Given the description of an element on the screen output the (x, y) to click on. 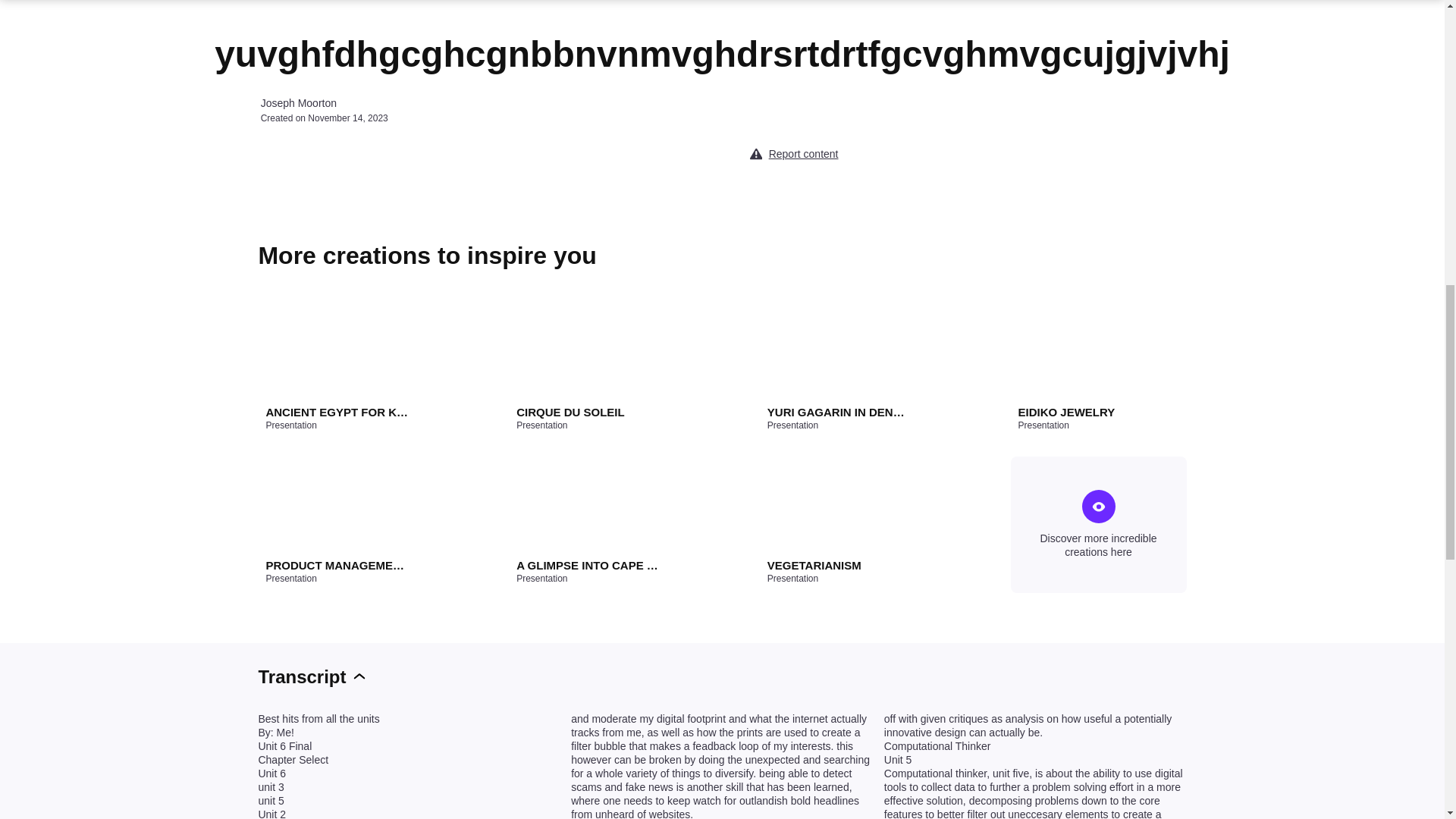
EIDIKO JEWELRY (1088, 412)
VEGETARIANISM (838, 565)
YURI GAGARIN IN DENMARK (838, 412)
ANCIENT EGYPT FOR KIDS PRESENTATION (335, 412)
Discover more incredible creations here (1098, 524)
Report content (803, 153)
CIRQUE DU SOLEIL (587, 412)
